Given the description of an element on the screen output the (x, y) to click on. 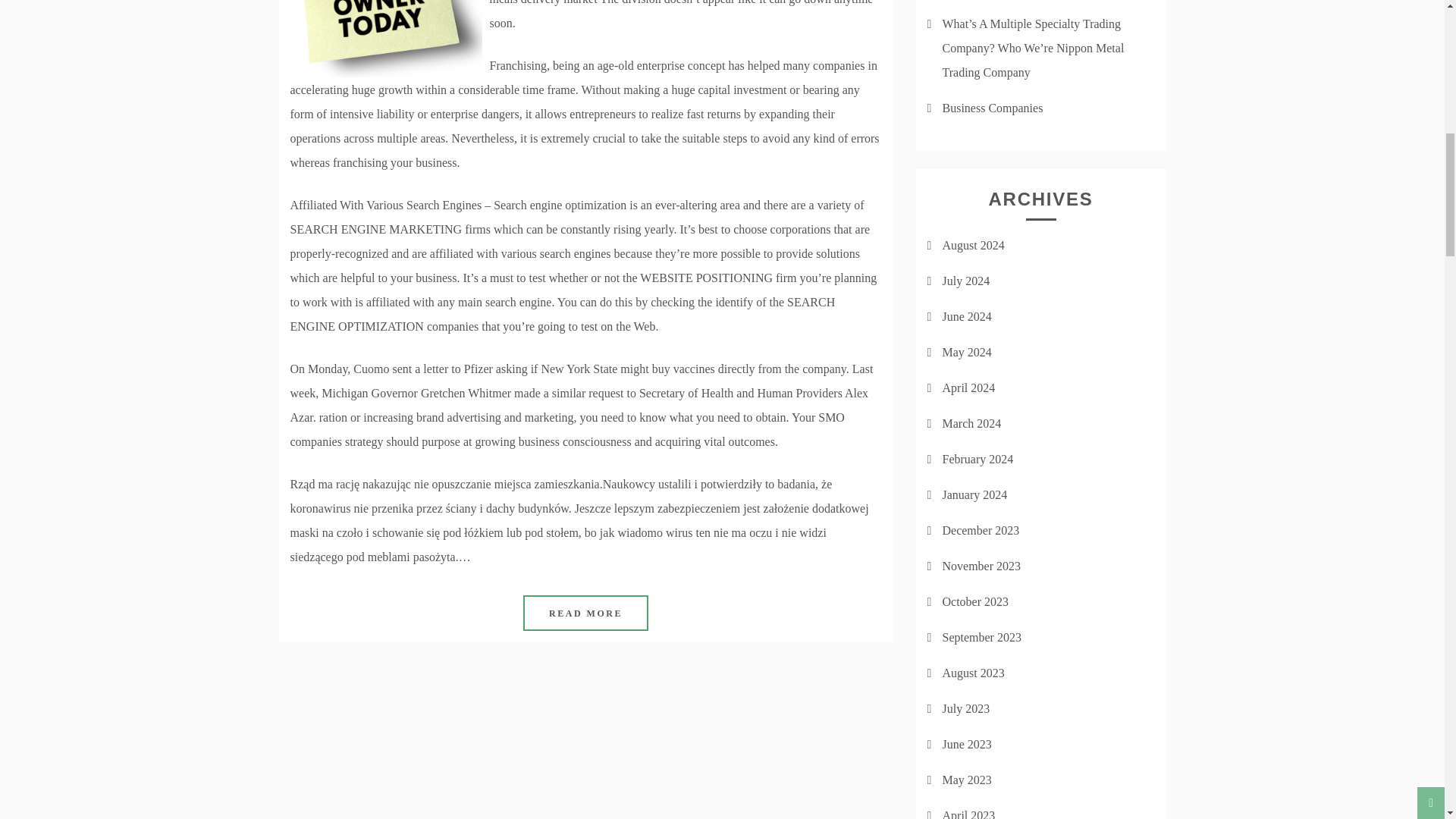
November 2023 (981, 565)
April 2023 (968, 814)
January 2024 (974, 494)
August 2023 (973, 672)
September 2023 (981, 636)
February 2024 (977, 459)
READ MORE (584, 612)
October 2023 (975, 601)
March 2024 (971, 422)
July 2024 (966, 280)
